Given the description of an element on the screen output the (x, y) to click on. 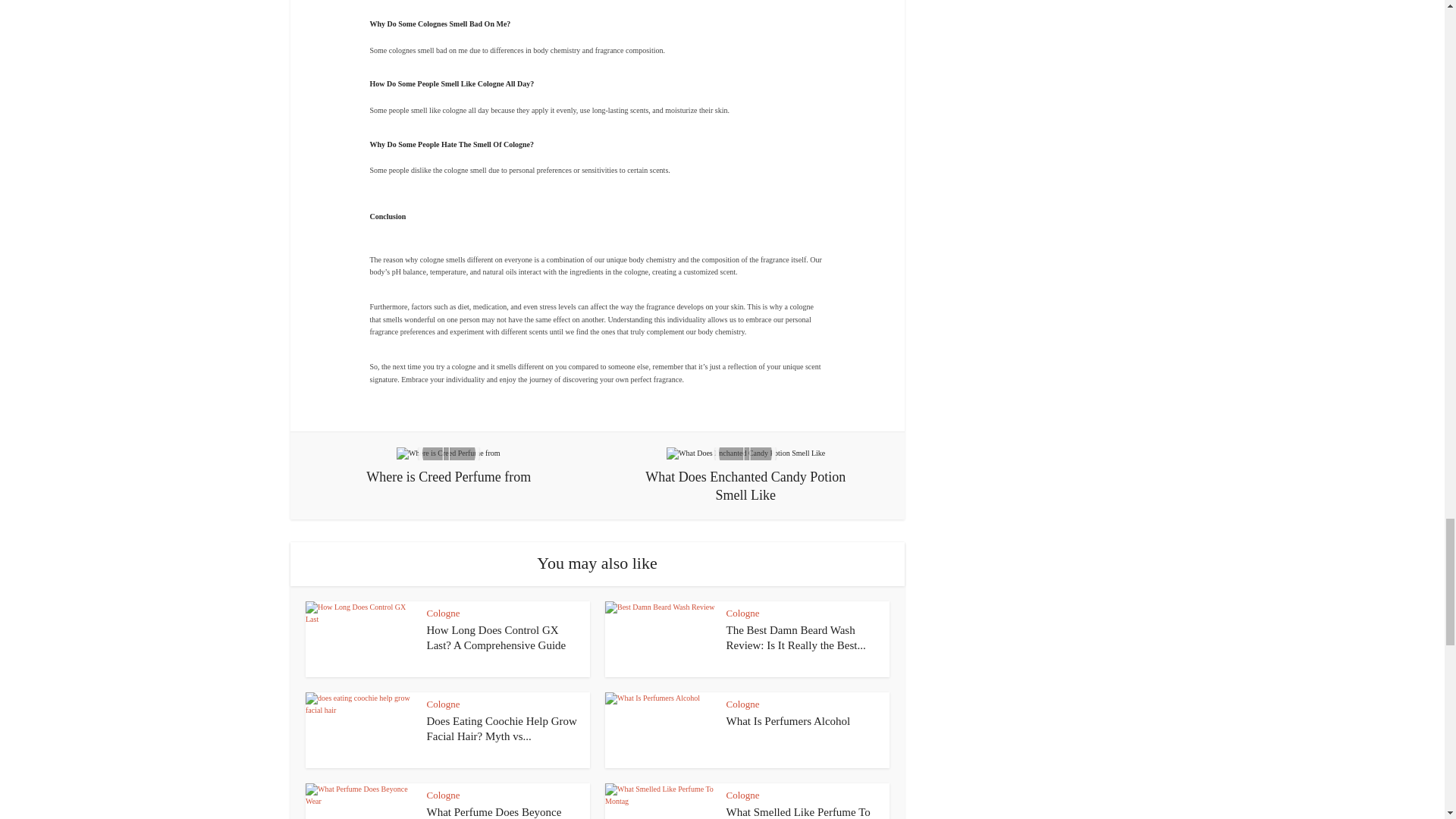
How Long Does Control GX Last? A Comprehensive Guide 5 (359, 639)
How Long Does Control GX Last? A Comprehensive Guide (496, 637)
What Does Enchanted Candy Potion Smell Like 4 (745, 453)
Where is Creed Perfume from 3 (448, 453)
